Given the description of an element on the screen output the (x, y) to click on. 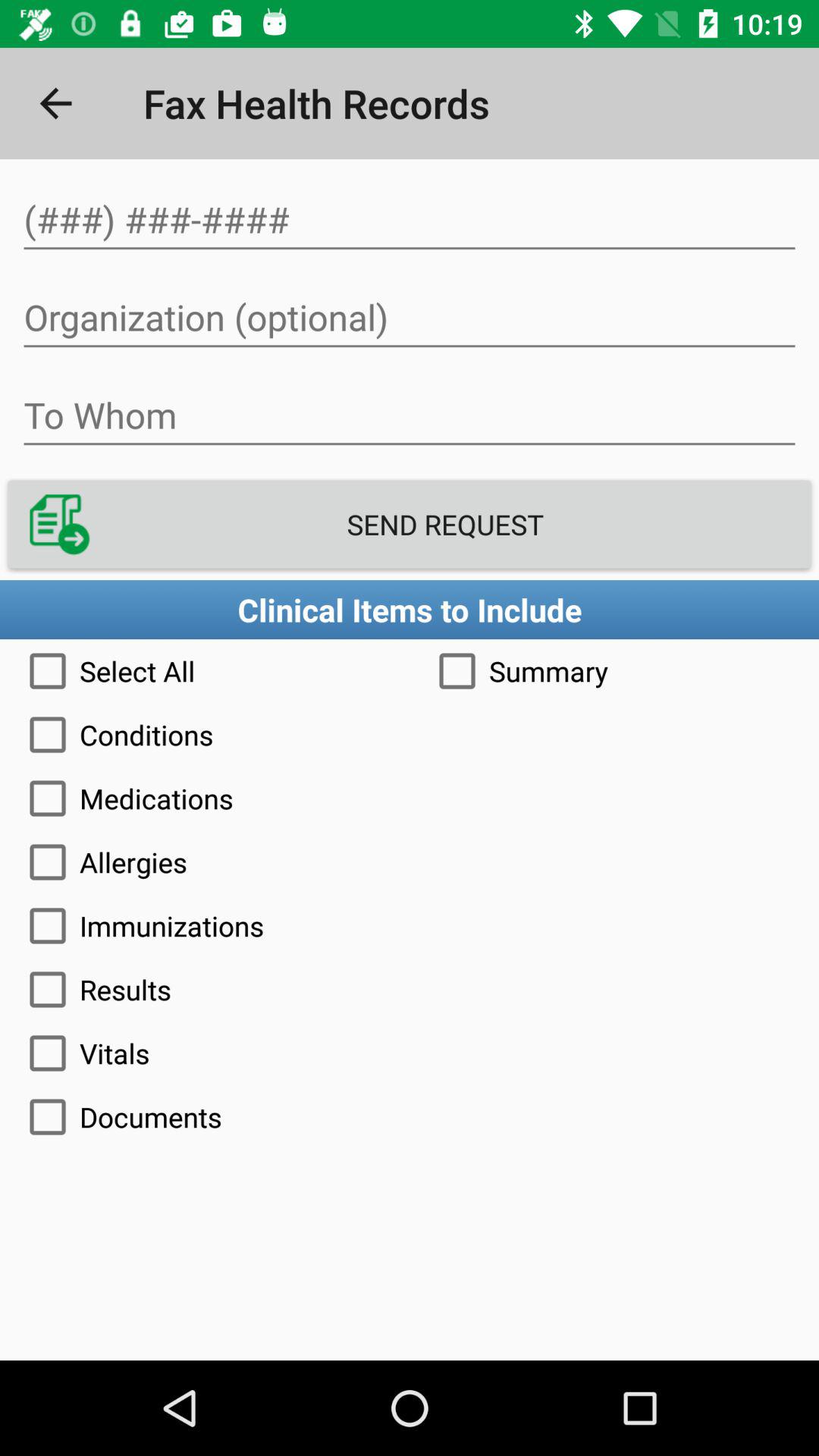
jump until allergies icon (409, 862)
